Given the description of an element on the screen output the (x, y) to click on. 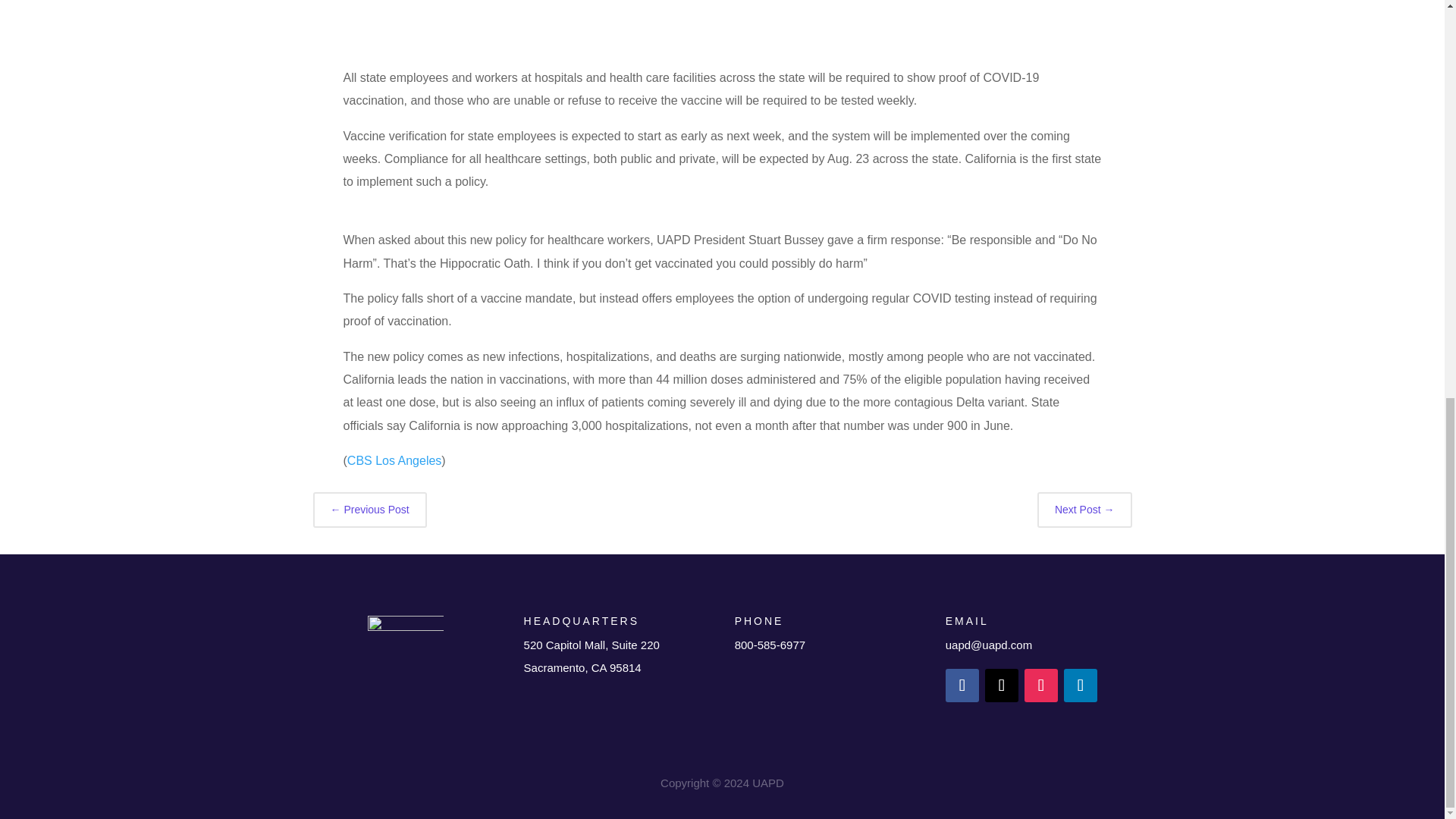
Follow on Instagram (1041, 685)
CBS Los Angeles (394, 460)
uapd TEMPORARY logo box small (406, 628)
Follow on Facebook (961, 685)
Follow on LinkedIn (1080, 685)
Follow on X (1001, 685)
